Given the description of an element on the screen output the (x, y) to click on. 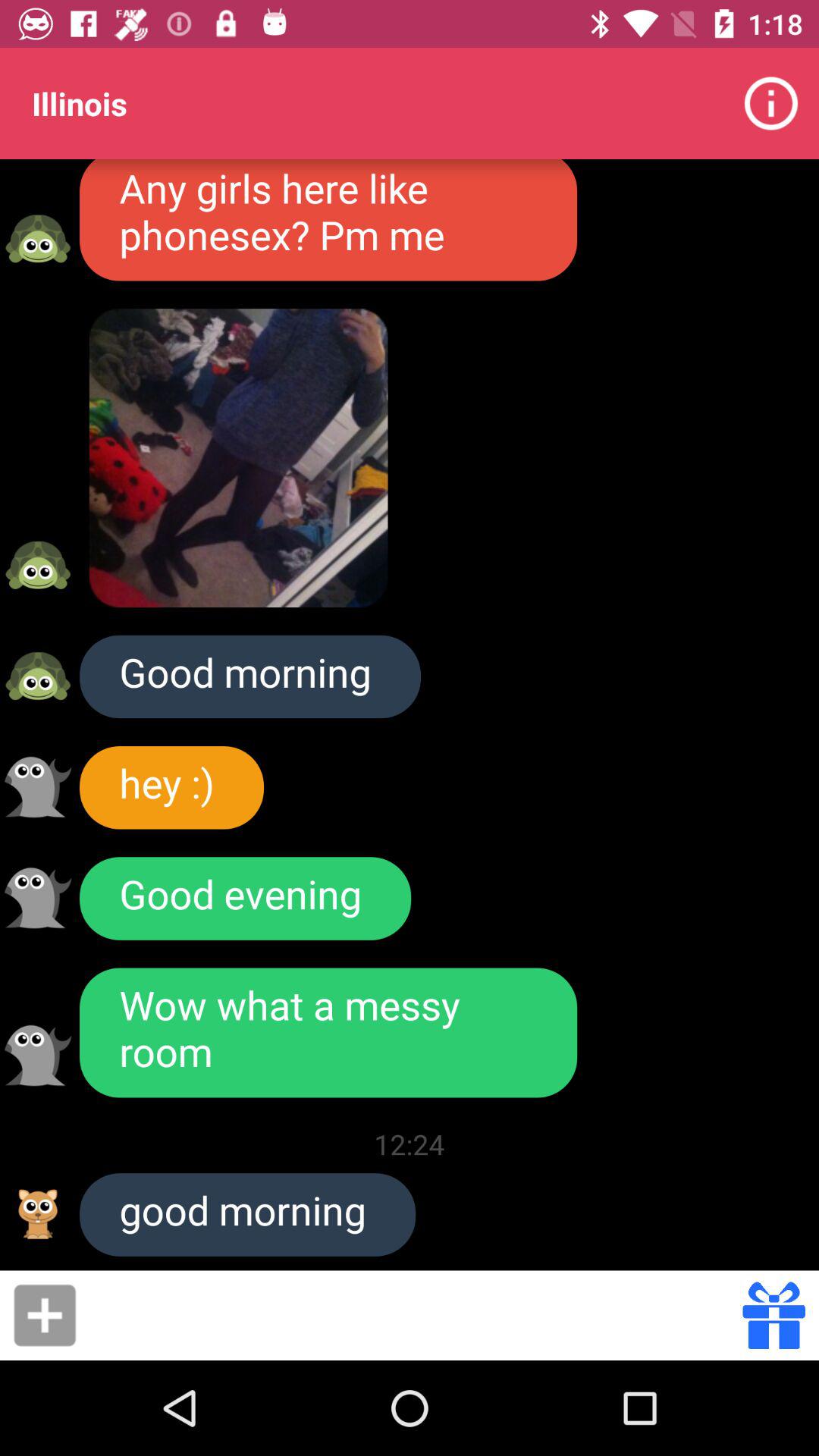
turn off item above wow what a icon (245, 898)
